Given the description of an element on the screen output the (x, y) to click on. 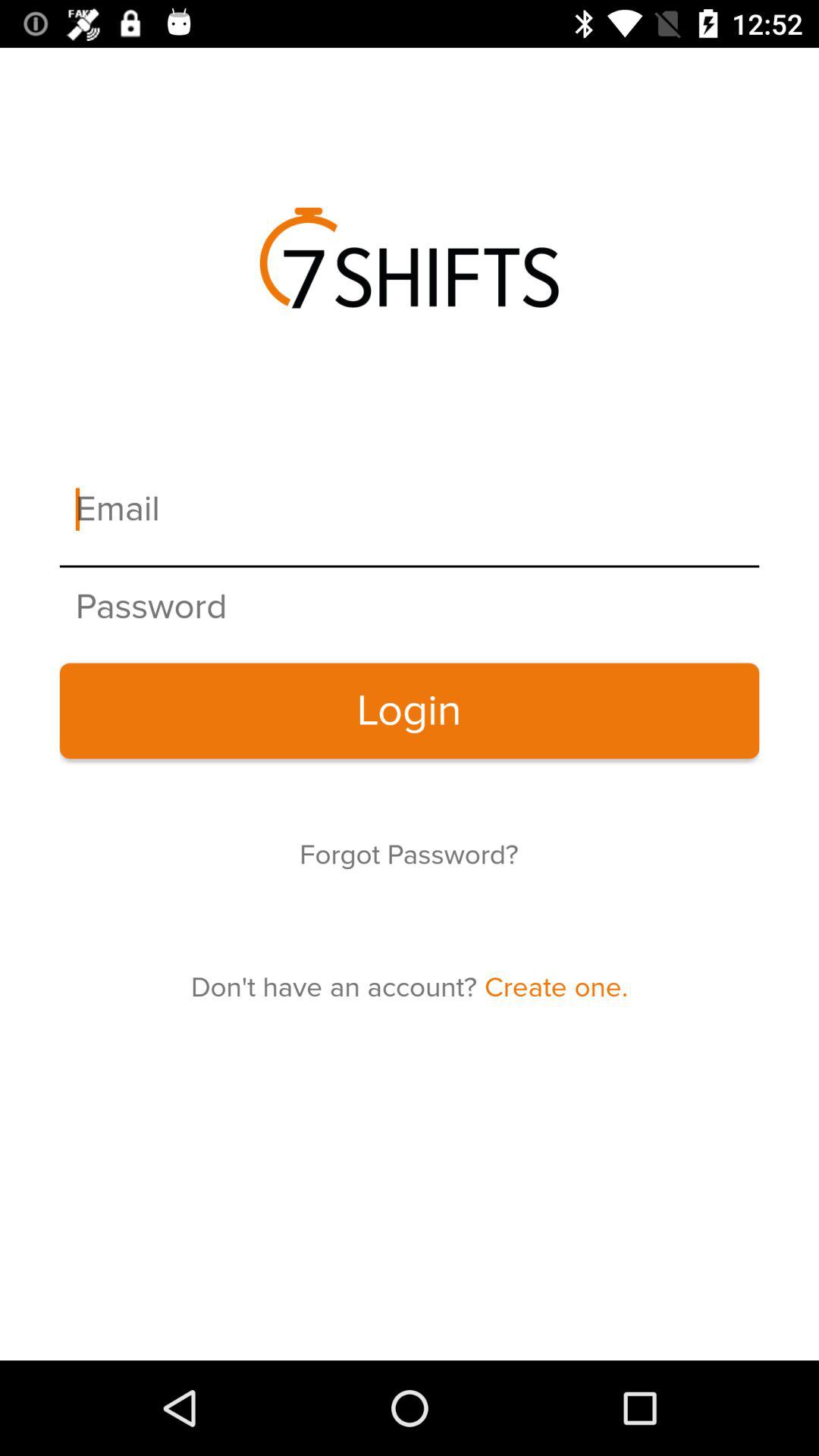
enter email (409, 509)
